Given the description of an element on the screen output the (x, y) to click on. 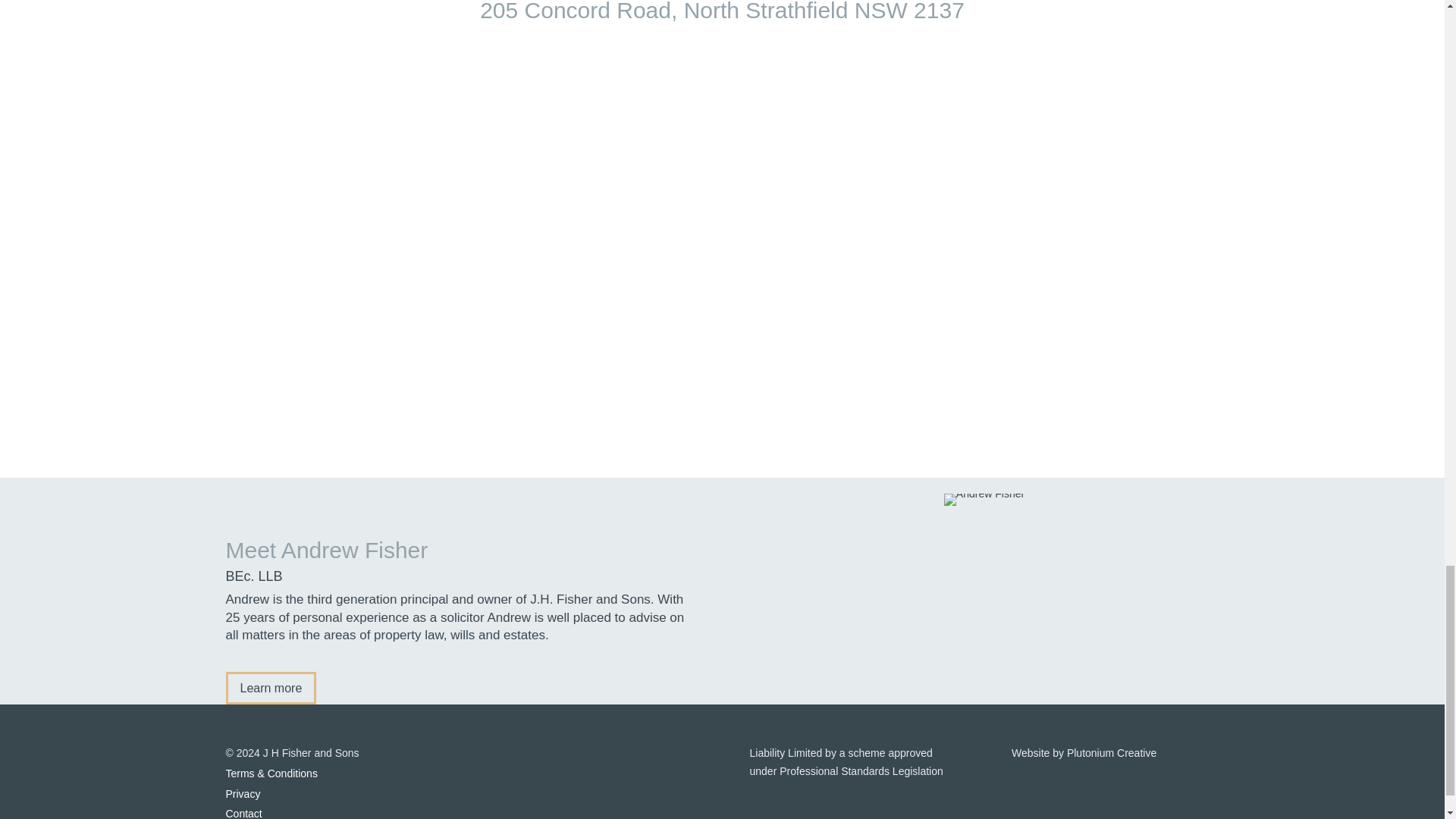
Learn more (271, 687)
